Given the description of an element on the screen output the (x, y) to click on. 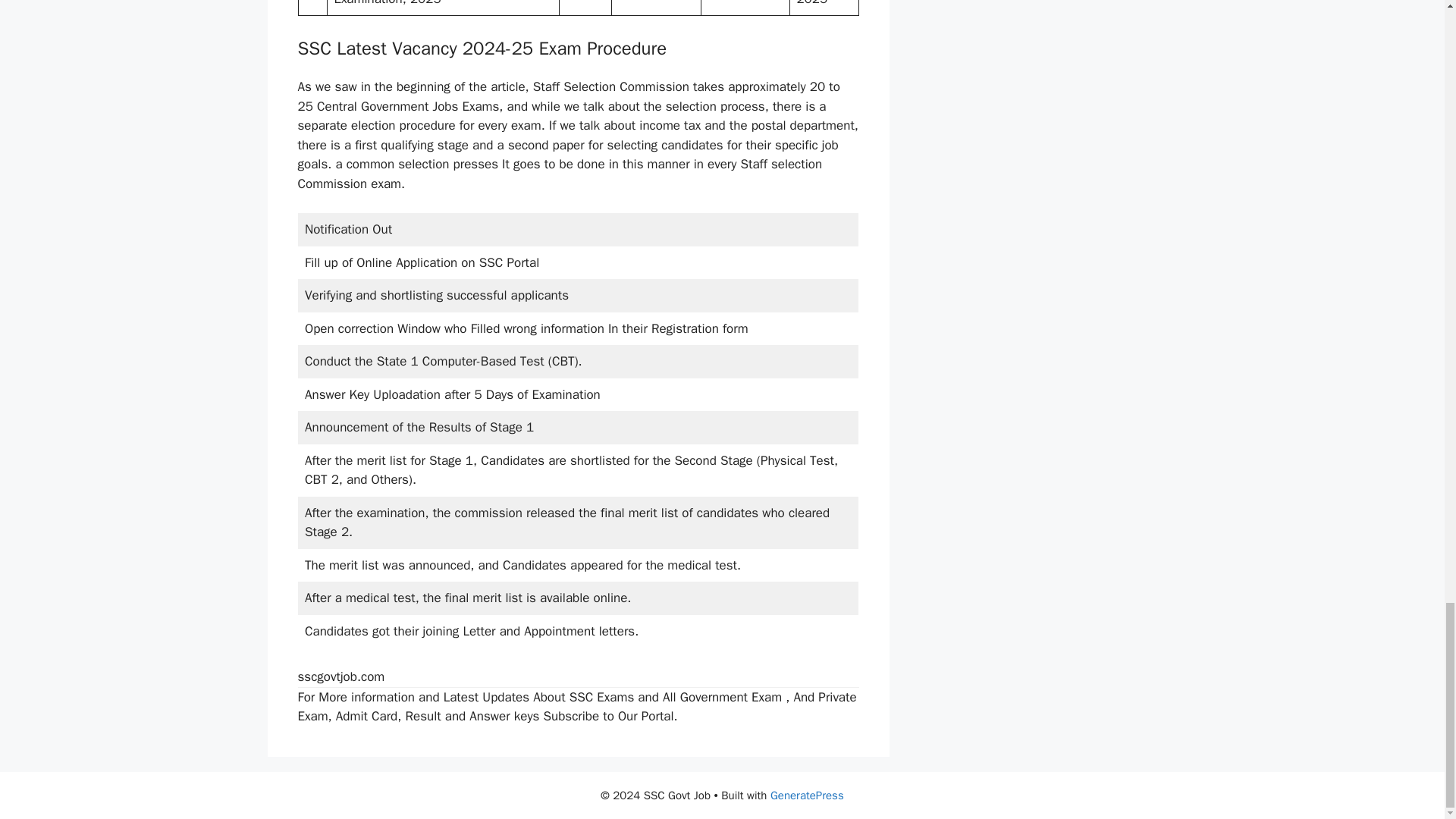
GeneratePress (807, 795)
